Given the description of an element on the screen output the (x, y) to click on. 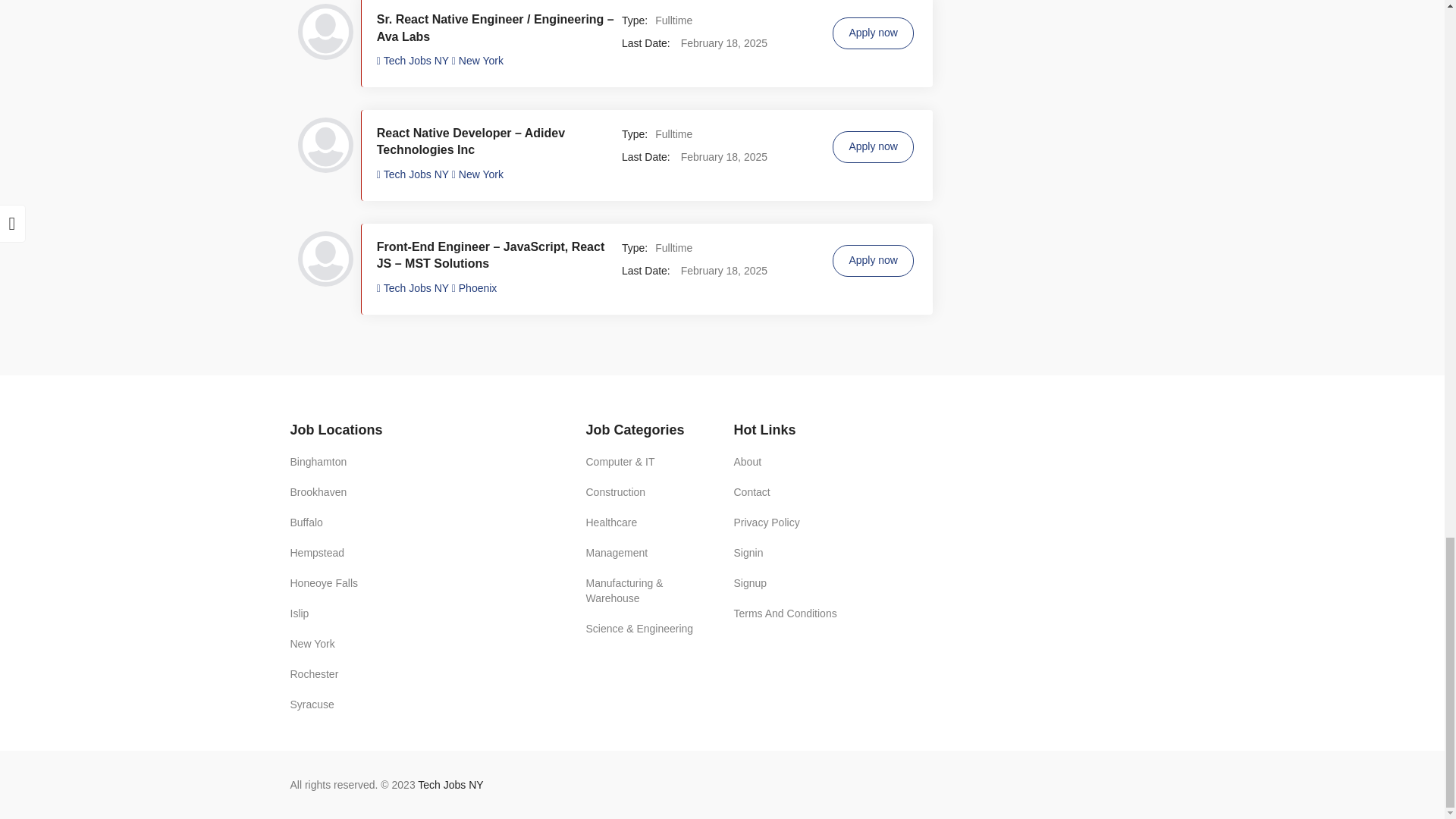
New York (480, 174)
Tech Jobs NY (414, 287)
New York (480, 60)
Apply now (873, 146)
Apply now (873, 33)
Tech Jobs NY (414, 60)
Tech Jobs NY (414, 174)
